Given the description of an element on the screen output the (x, y) to click on. 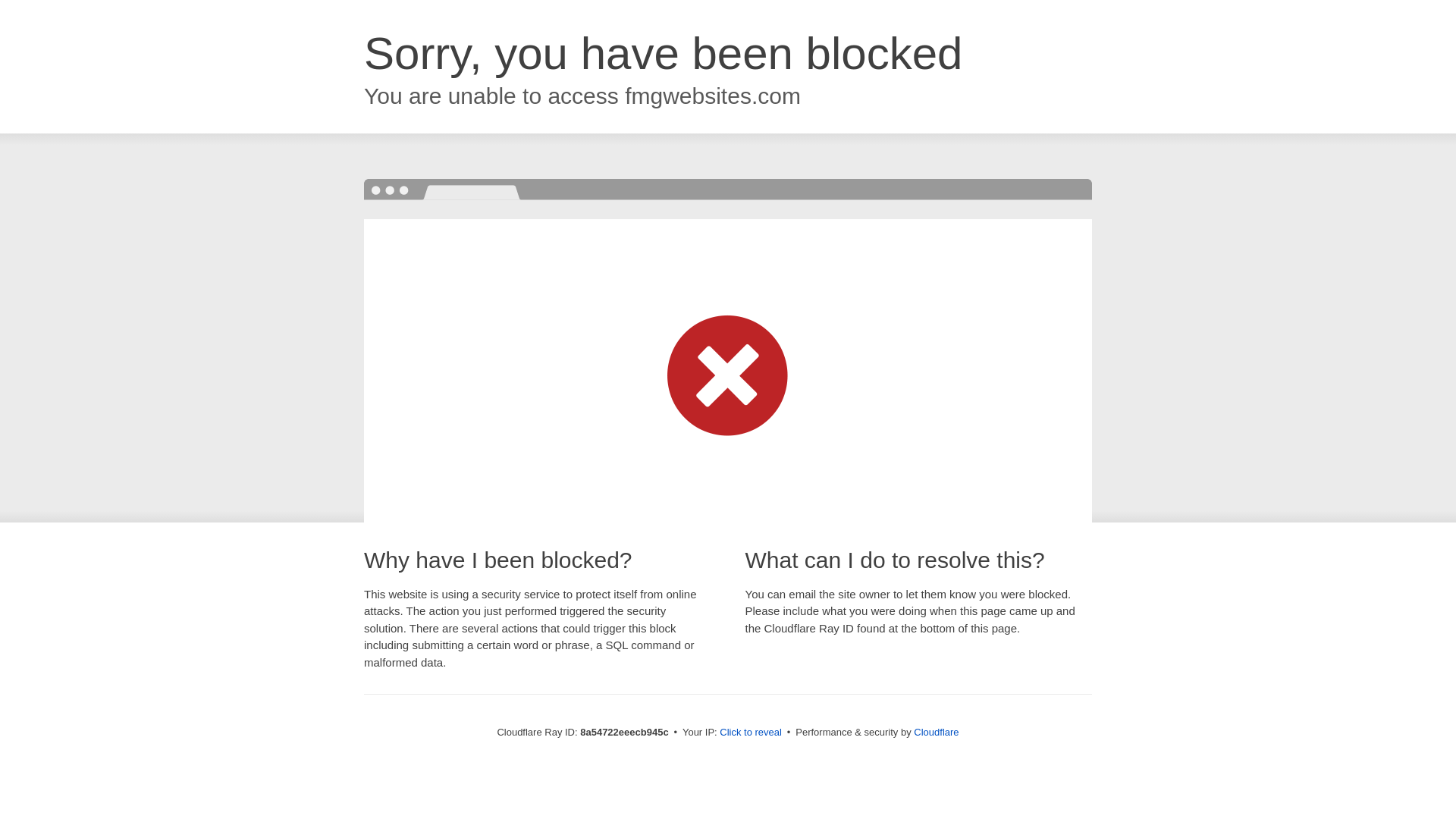
Cloudflare (936, 731)
Click to reveal (750, 732)
